Given the description of an element on the screen output the (x, y) to click on. 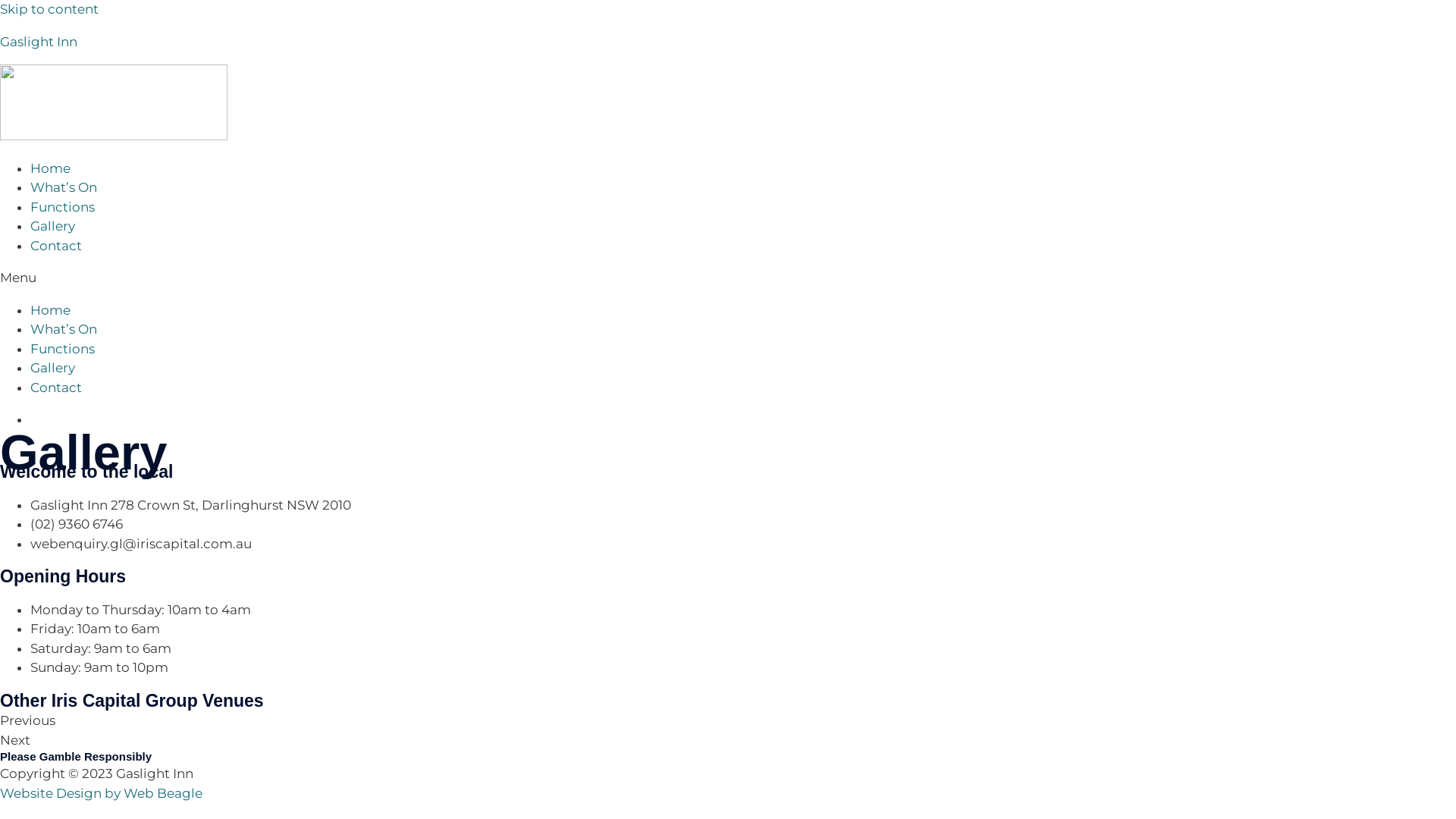
Gallery Element type: text (52, 225)
Gaslight Inn Element type: text (38, 40)
Website Design by Web Beagle Element type: text (101, 792)
Contact Element type: text (55, 386)
Gallery Element type: text (52, 367)
Skip to content Element type: text (49, 8)
Home Element type: text (50, 308)
Functions Element type: text (62, 348)
Home Element type: text (50, 167)
Contact Element type: text (55, 245)
Functions Element type: text (62, 205)
